Given the description of an element on the screen output the (x, y) to click on. 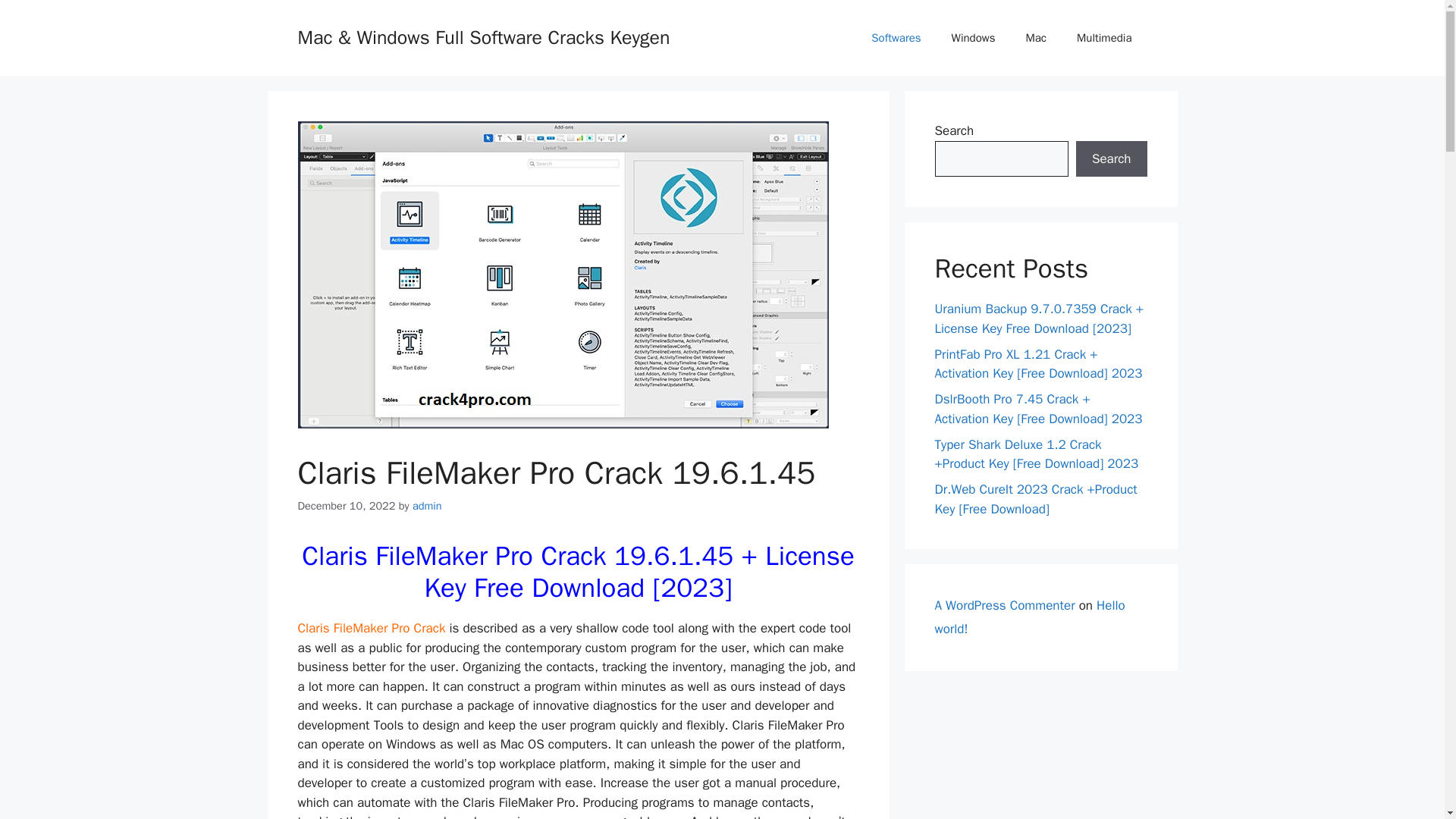
Softwares (896, 37)
Search (1111, 158)
Multimedia (1104, 37)
View all posts by admin (427, 505)
Mac (1035, 37)
A WordPress Commenter (1004, 605)
Claris FileMaker Pro Crack (371, 627)
admin (427, 505)
Windows (973, 37)
